Given the description of an element on the screen output the (x, y) to click on. 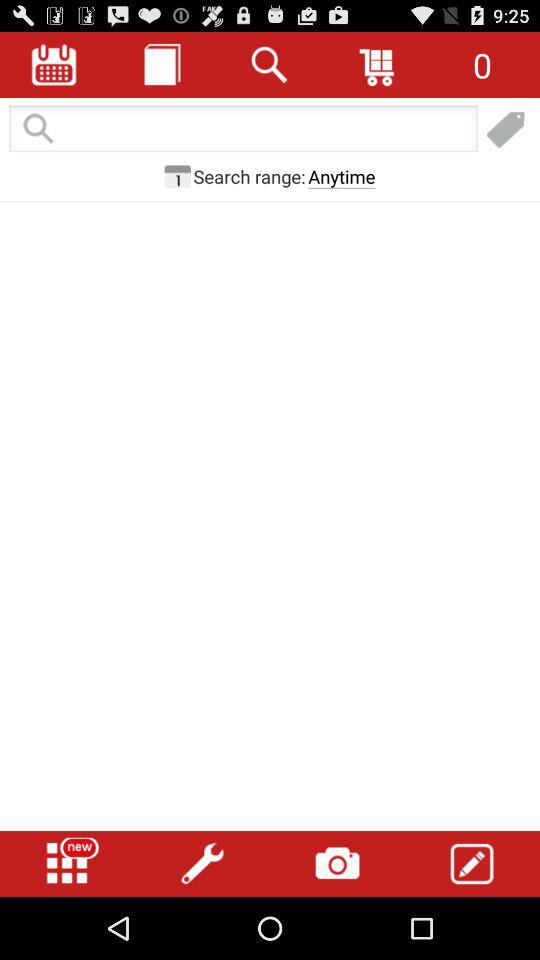
shopping link (506, 130)
